Given the description of an element on the screen output the (x, y) to click on. 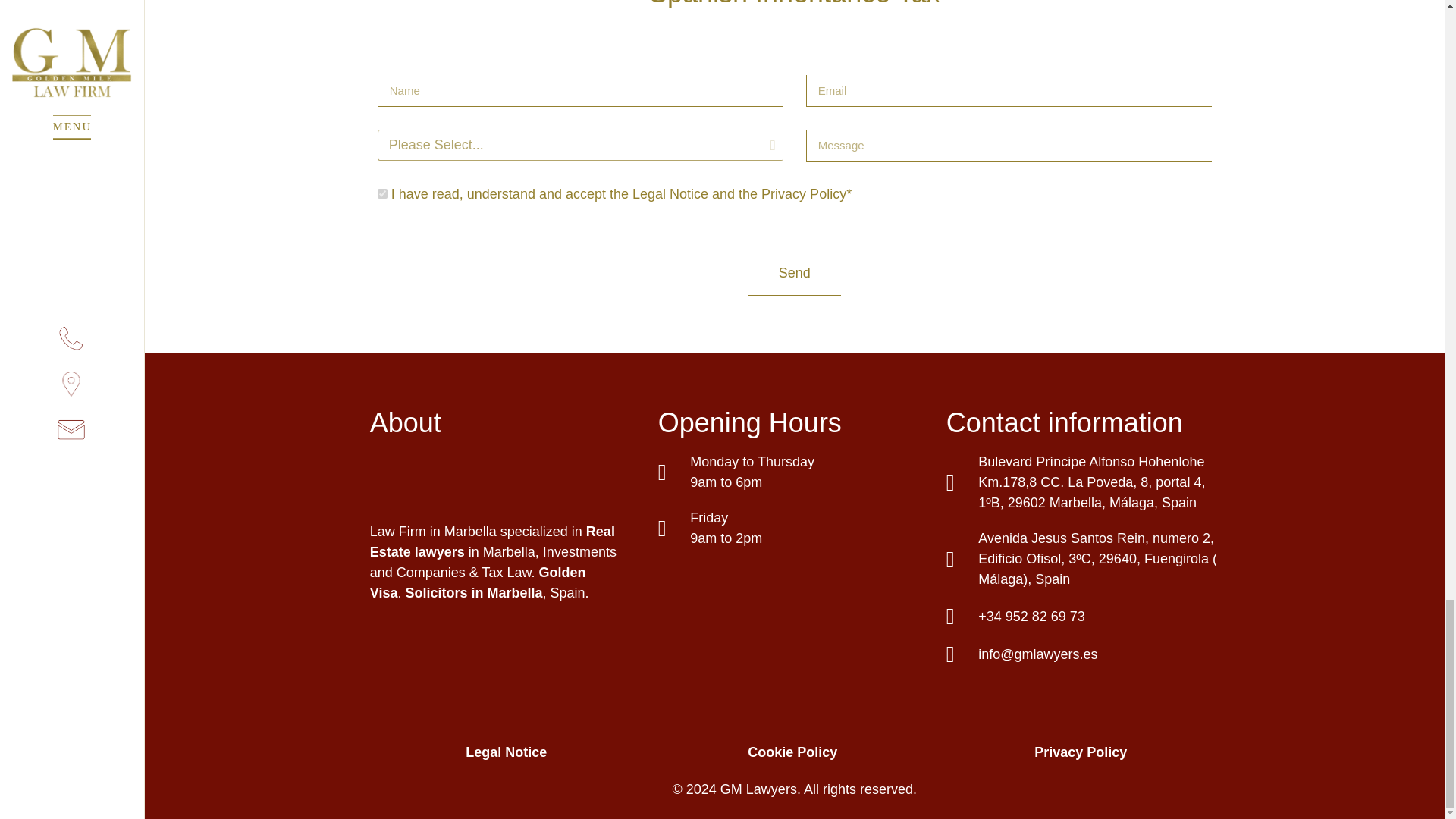
on (382, 194)
Privacy Policy  (1082, 752)
Send (794, 272)
Cookie Policy (792, 752)
Legal Notice (506, 752)
Solicitors in Marbella (472, 592)
Golden Visa (477, 582)
Real Estate lawyers (491, 541)
